Given the description of an element on the screen output the (x, y) to click on. 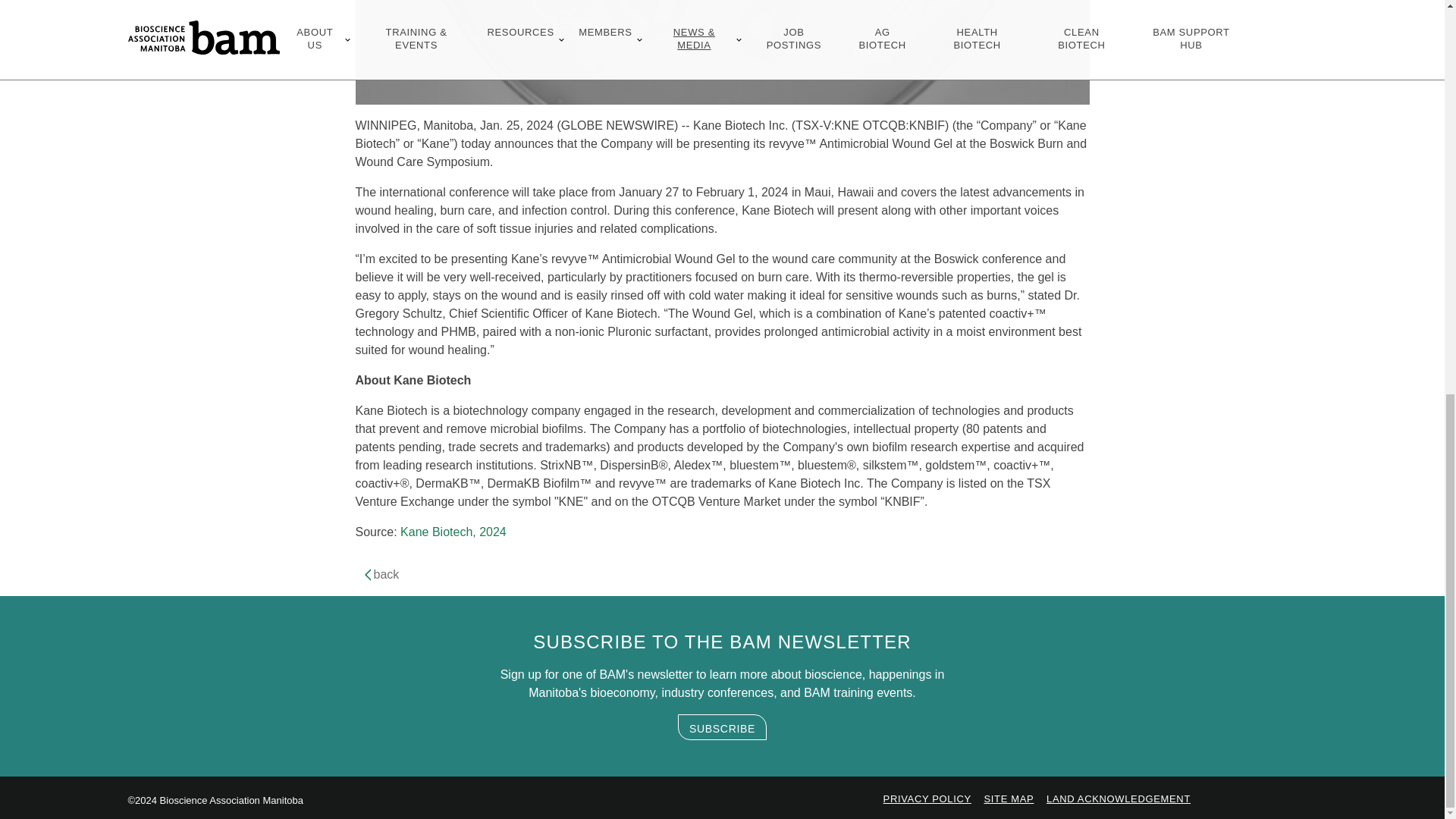
back (379, 574)
Kane Biotech, 2024 (453, 531)
